Given the description of an element on the screen output the (x, y) to click on. 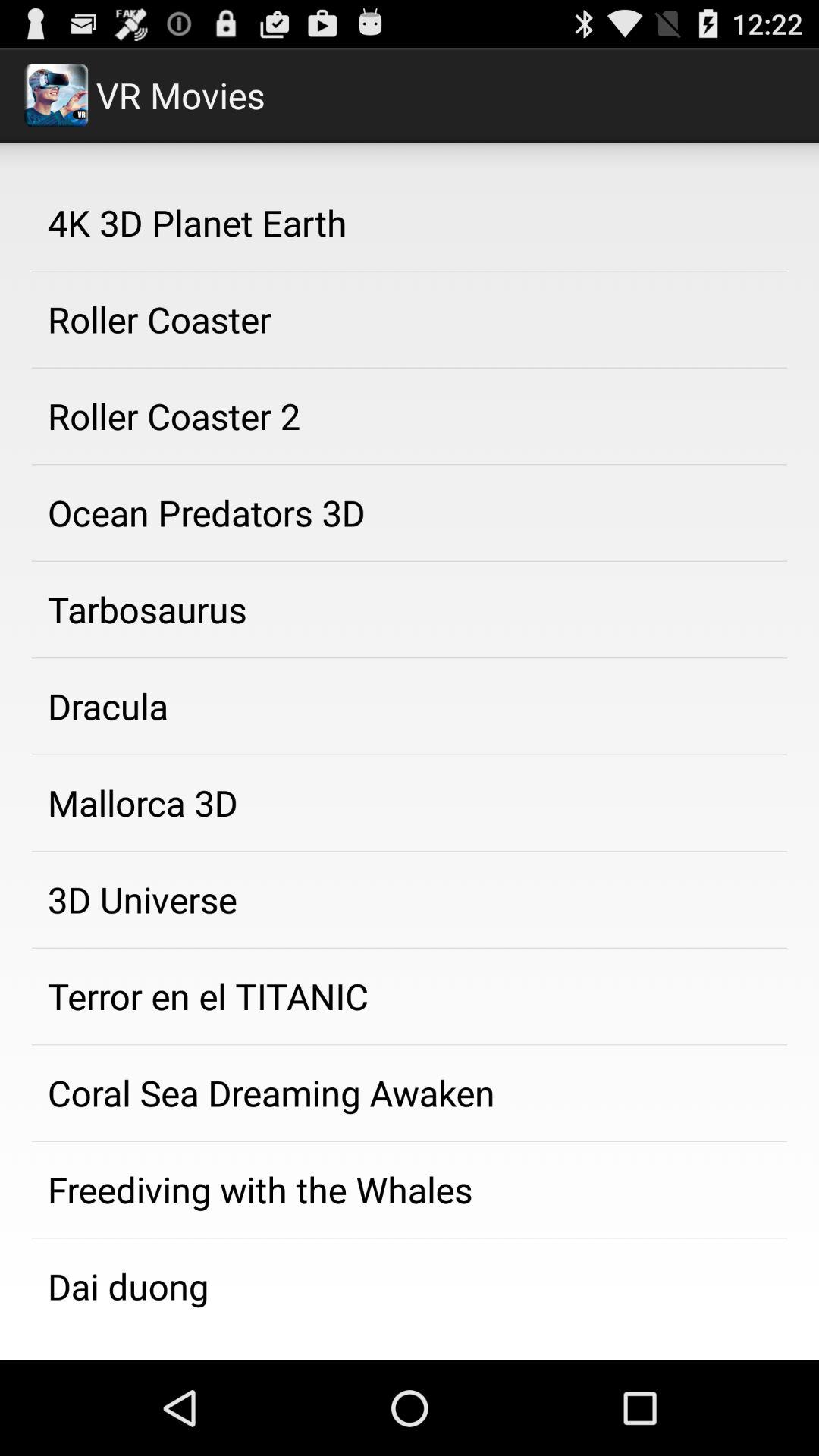
tap item above freediving with the item (409, 1092)
